Given the description of an element on the screen output the (x, y) to click on. 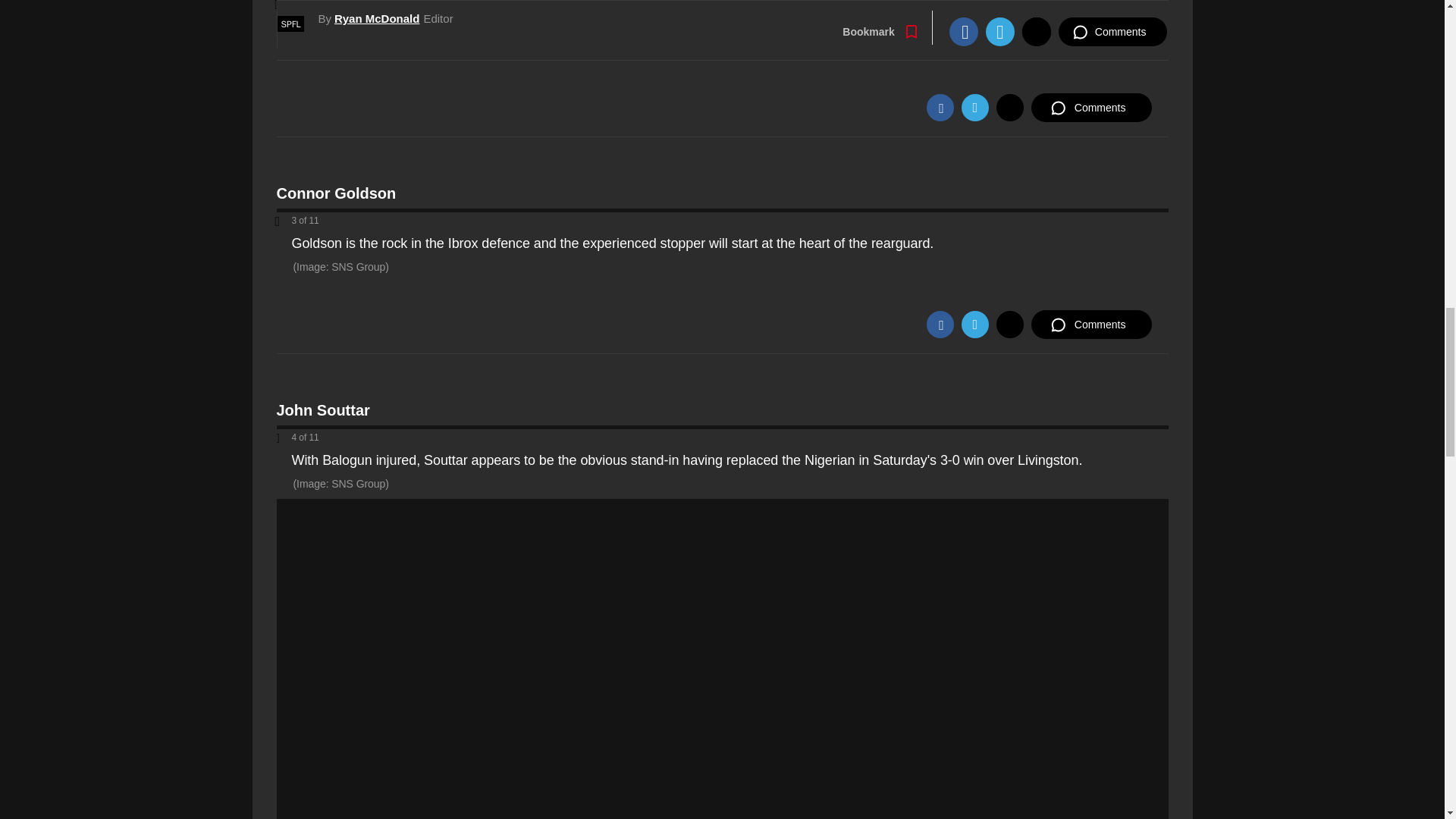
Facebook (939, 107)
Twitter (974, 324)
Facebook (939, 324)
Comments (1090, 107)
Twitter (974, 107)
Comments (1090, 324)
